Given the description of an element on the screen output the (x, y) to click on. 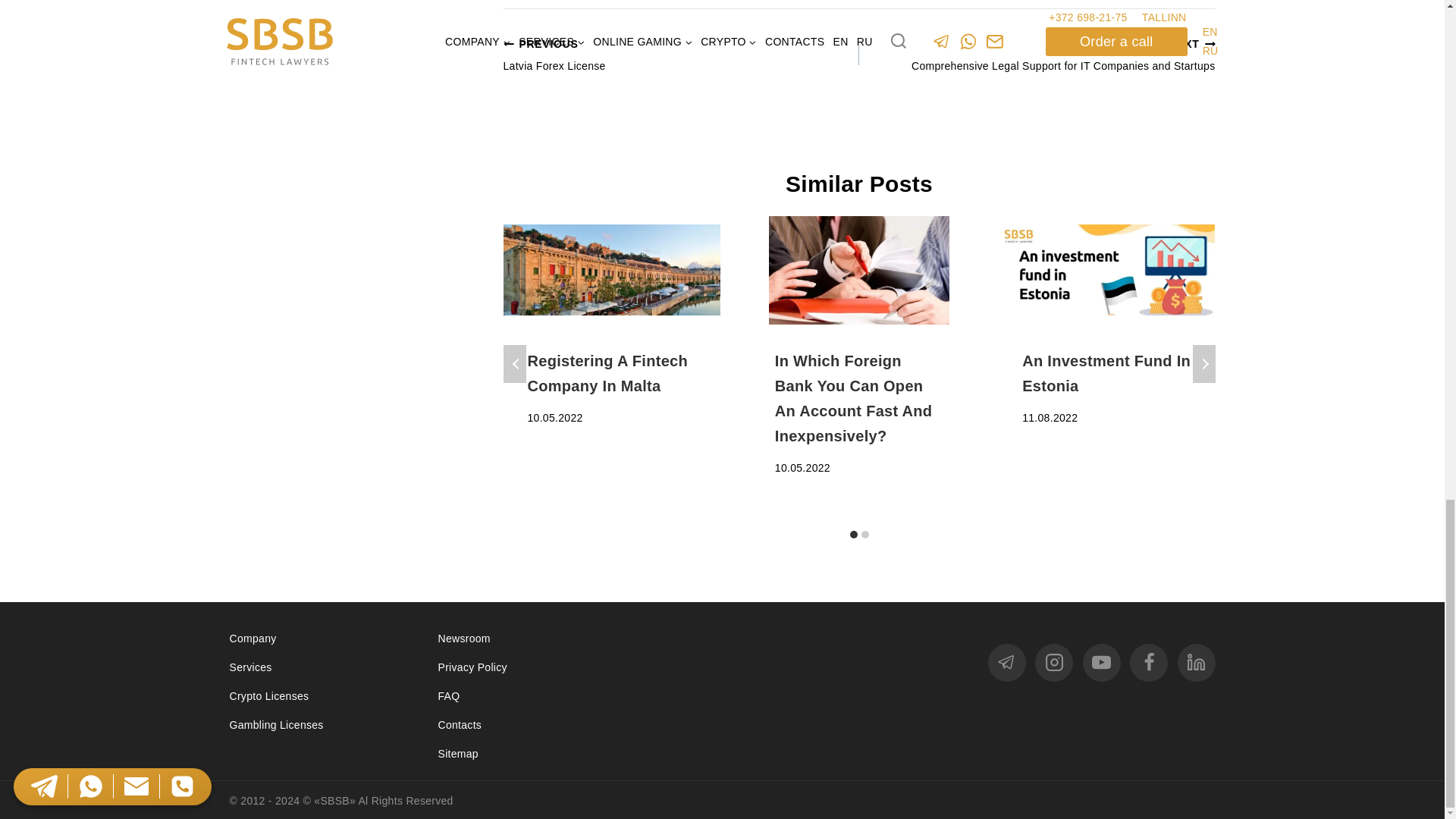
Registering a fintech company in Malta (611, 270)
An investment fund in Estonia (1105, 270)
